Given the description of an element on the screen output the (x, y) to click on. 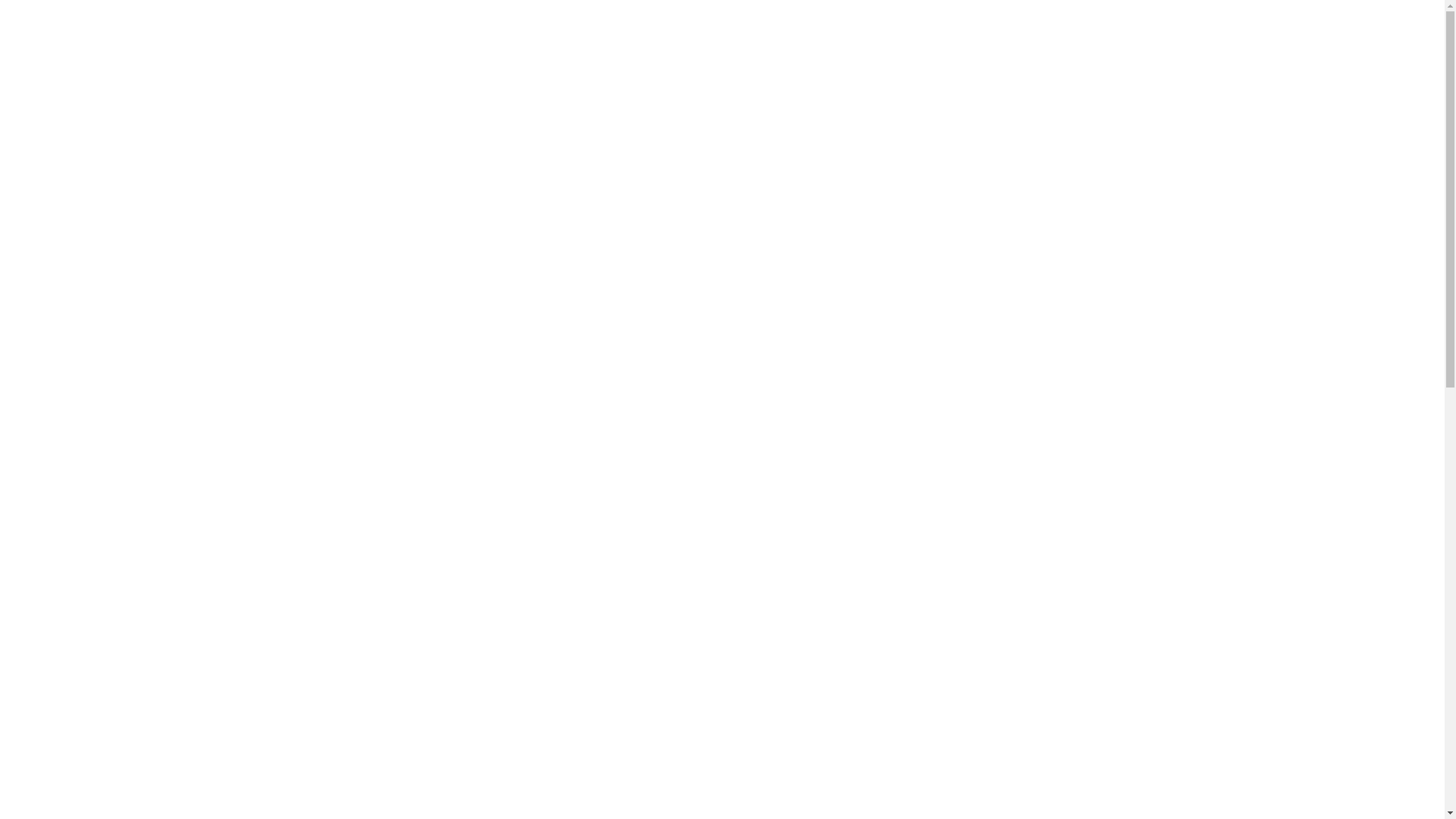
Kontakte Element type: text (82, 101)
Fahrzeuge Element type: text (85, 255)
CEVI-VD Element type: text (55, 129)
Kunden Element type: text (79, 282)
Mitglieder Element type: text (55, 338)
Fotos Element type: text (43, 506)
Vorstand Element type: text (81, 171)
Beleuchtungsballone Element type: text (141, 227)
EL-Refresher Element type: text (123, 478)
Material Element type: text (80, 185)
Mitglieder Element type: text (86, 157)
Startseite Element type: text (83, 59)
Ok Element type: text (7, 19)
Online-Anfrage Element type: text (98, 325)
Anmeldung Element type: text (89, 436)
CEVI-VD Element type: text (85, 144)
Mitglieder Element type: text (86, 352)
Startseite Element type: text (52, 46)
Ausbildung Element type: text (119, 464)
Kunden Element type: text (49, 269)
Einsatzpreise Element type: text (92, 297)
Material Element type: text (111, 199)
Filme Element type: text (74, 561)
. Element type: text (767, 6)
Kunden-Infos Element type: text (94, 74)
Informationsveranstaltung Element type: text (124, 366)
Neumitglieder Element type: text (95, 380)
Gesetzliche Vorschriften Element type: text (119, 115)
Zeitungsberichte Element type: text (101, 576)
Bewerbung Sekretariat Element type: text (116, 408)
Ausbildung Element type: text (88, 548)
Fotos Element type: text (73, 520)
Kursanmeldung Element type: text (99, 395)
Ausbildung Element type: text (88, 450)
Austritt aus dem CEVI-VD Element type: text (127, 492)
